Given the description of an element on the screen output the (x, y) to click on. 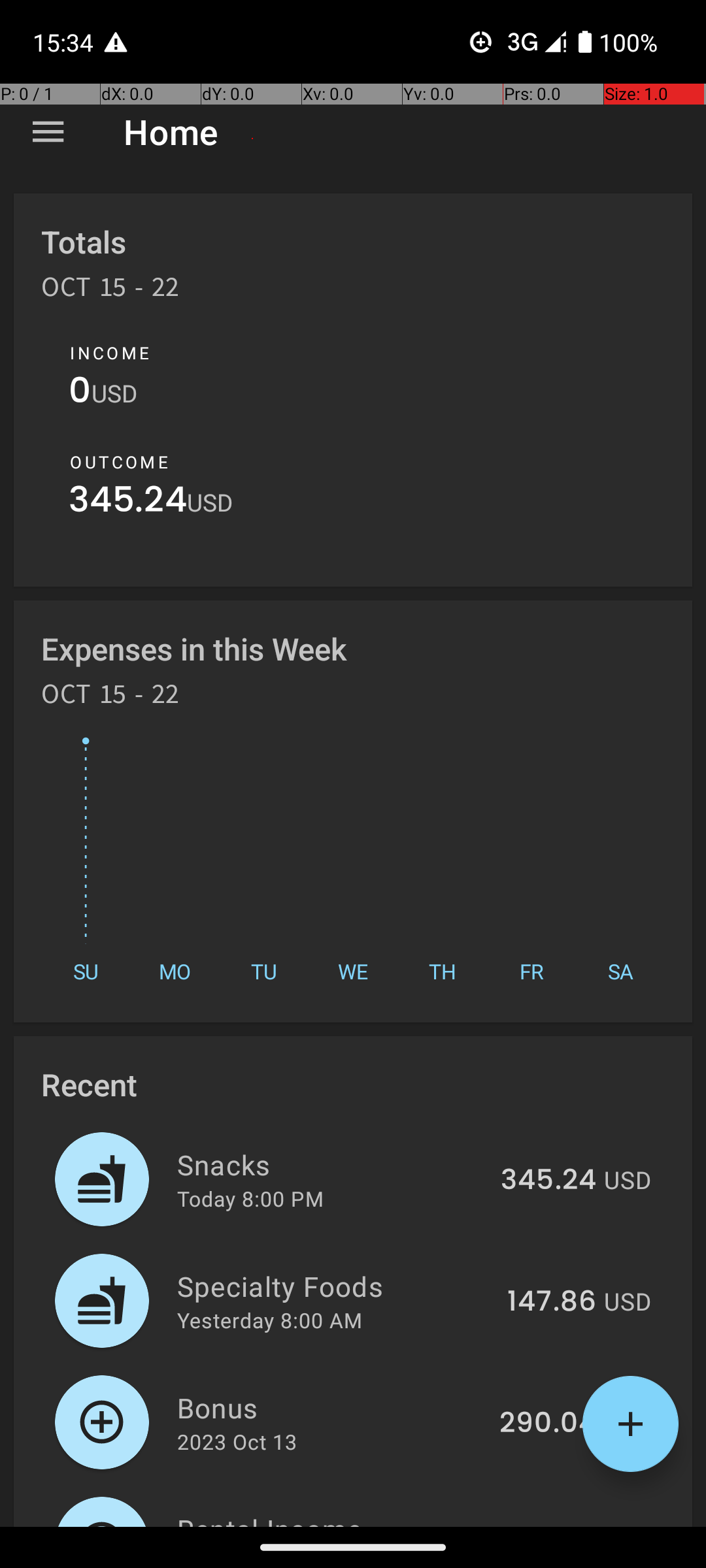
Totals Element type: android.widget.TextView (83, 240)
OCT 15 - 22 Element type: android.widget.TextView (110, 291)
INCOME Element type: android.widget.TextView (109, 352)
USD Element type: android.widget.TextView (114, 392)
OUTCOME Element type: android.widget.TextView (118, 461)
345.24 Element type: android.widget.TextView (127, 502)
Expenses in this Week Element type: android.widget.TextView (194, 648)
Recent Element type: android.widget.TextView (89, 1083)
Snacks Element type: android.widget.TextView (331, 1164)
Today 8:00 PM Element type: android.widget.TextView (250, 1198)
Specialty Foods Element type: android.widget.TextView (334, 1285)
Yesterday 8:00 AM Element type: android.widget.TextView (269, 1320)
147.86 Element type: android.widget.TextView (551, 1301)
Bonus Element type: android.widget.TextView (330, 1407)
2023 Oct 13 Element type: android.widget.TextView (236, 1441)
290.04 Element type: android.widget.TextView (547, 1423)
Rental Income Element type: android.widget.TextView (331, 1518)
463.23 Element type: android.widget.TextView (548, 1524)
